Given the description of an element on the screen output the (x, y) to click on. 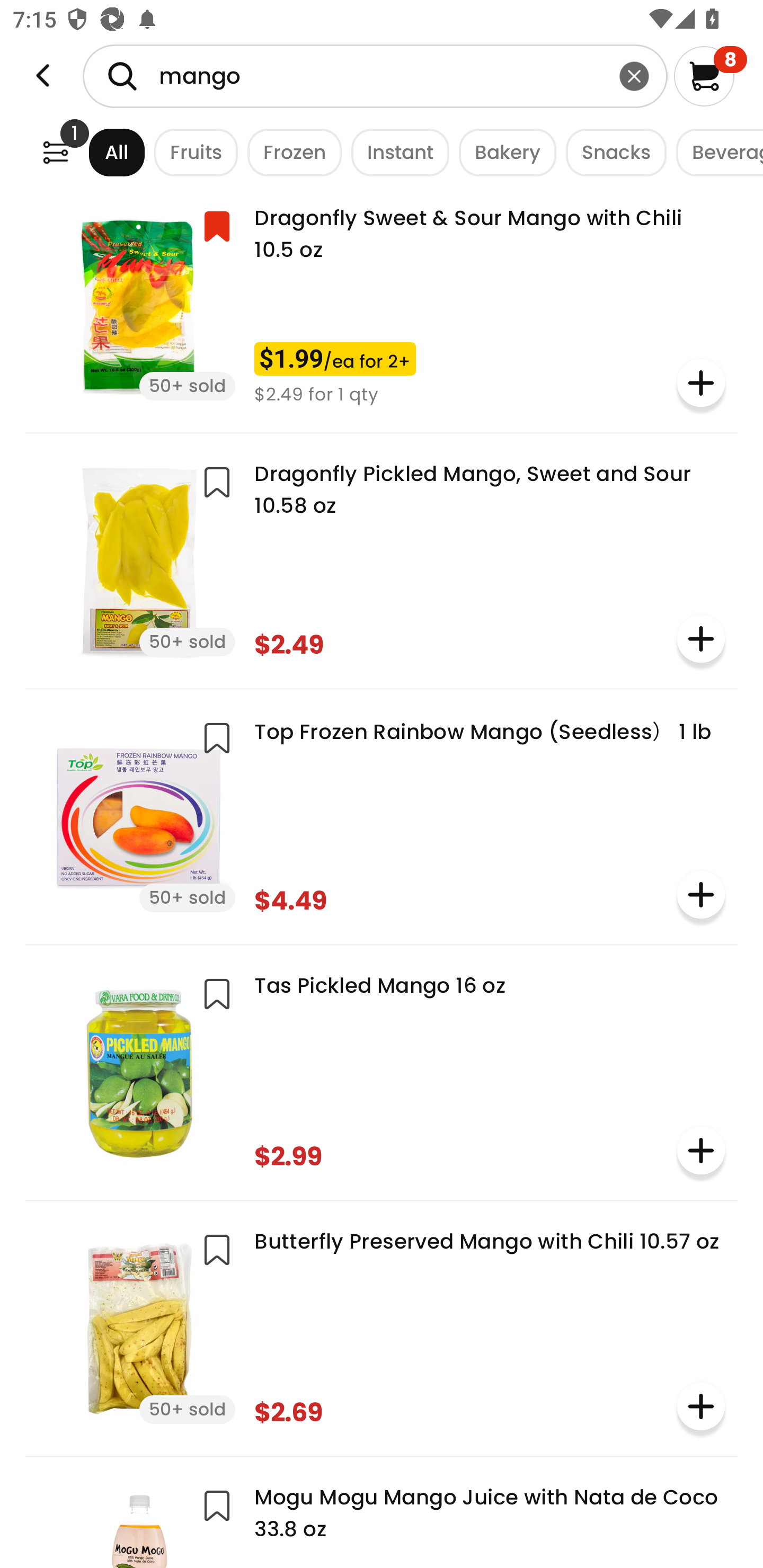
mango (374, 75)
8 (709, 75)
Weee! (42, 76)
Weee! (55, 151)
All (99, 151)
Fruits (191, 151)
Frozen (289, 151)
Instant (395, 151)
Bakery (502, 151)
Snacks (611, 151)
Beverages (714, 151)
Tas Pickled Mango 16 oz $2.99 (381, 1070)
Mogu Mogu Mango Juice with Nata de Coco 33.8 oz (381, 1519)
